Given the description of an element on the screen output the (x, y) to click on. 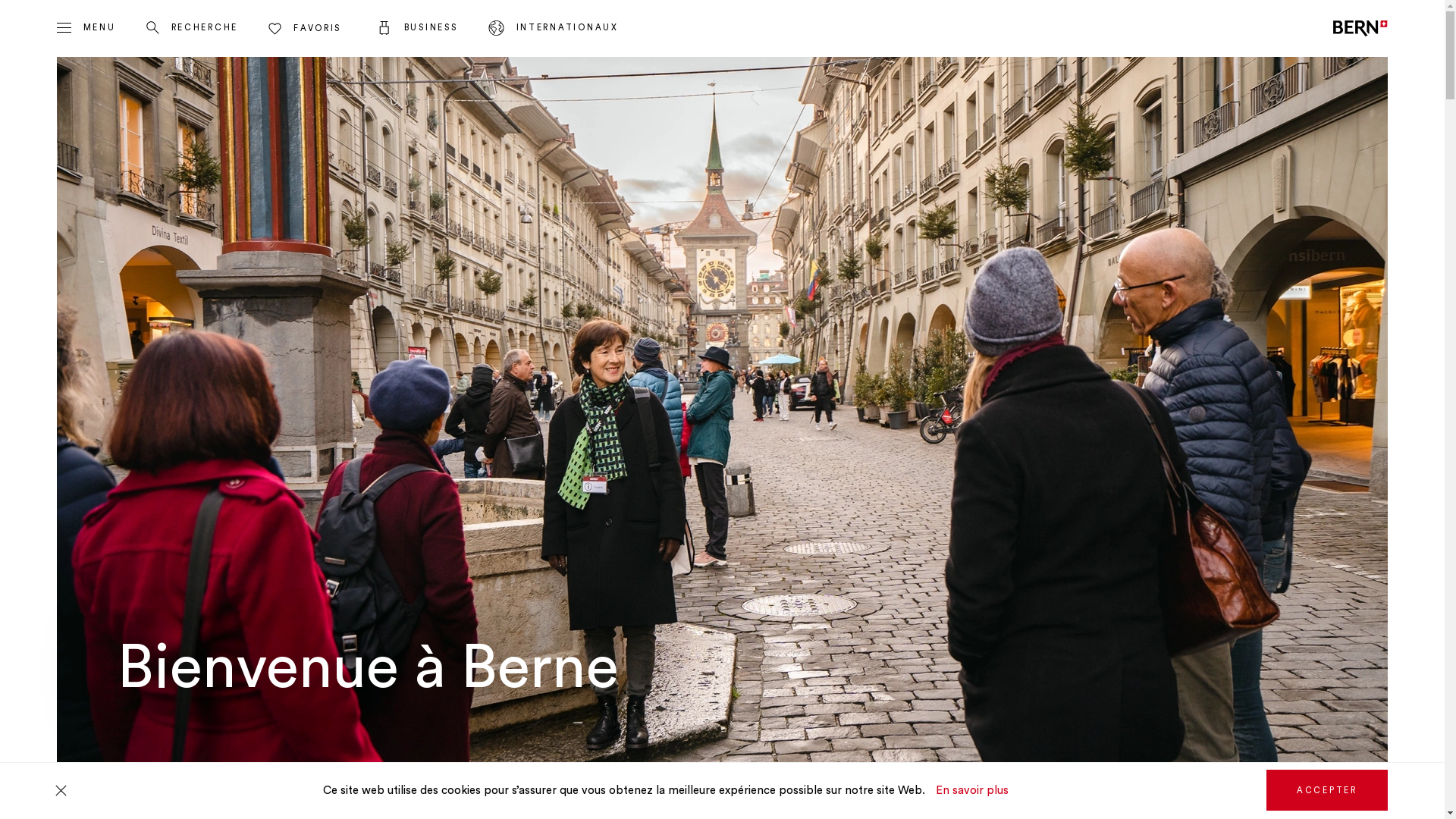
INTERNATIONAUX Element type: text (553, 27)
Platform Element type: hover (387, 27)
RECHERCHE Element type: text (192, 27)
MENU Element type: text (86, 27)
Navigation Element type: hover (67, 27)
Platform Element type: hover (499, 27)
BUSINESS Element type: text (416, 27)
Recherche Element type: hover (156, 27)
ACCEPTER Element type: text (1326, 790)
En savoir plus Element type: text (968, 790)
Bookmarks Element type: hover (278, 28)
FAVORIS Element type: text (306, 28)
